Given the description of an element on the screen output the (x, y) to click on. 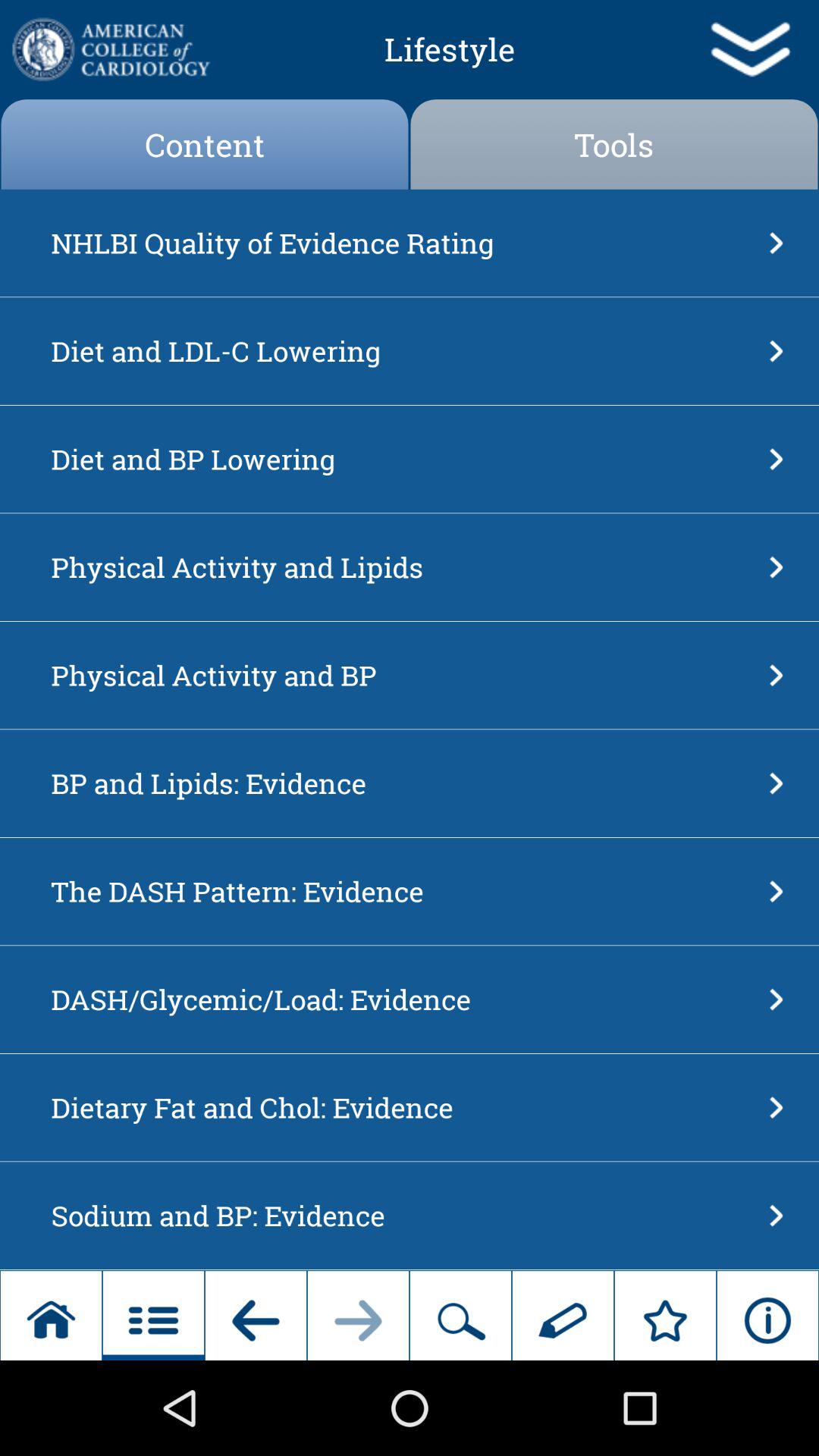
turn off the item next to lifestyle (109, 49)
